Given the description of an element on the screen output the (x, y) to click on. 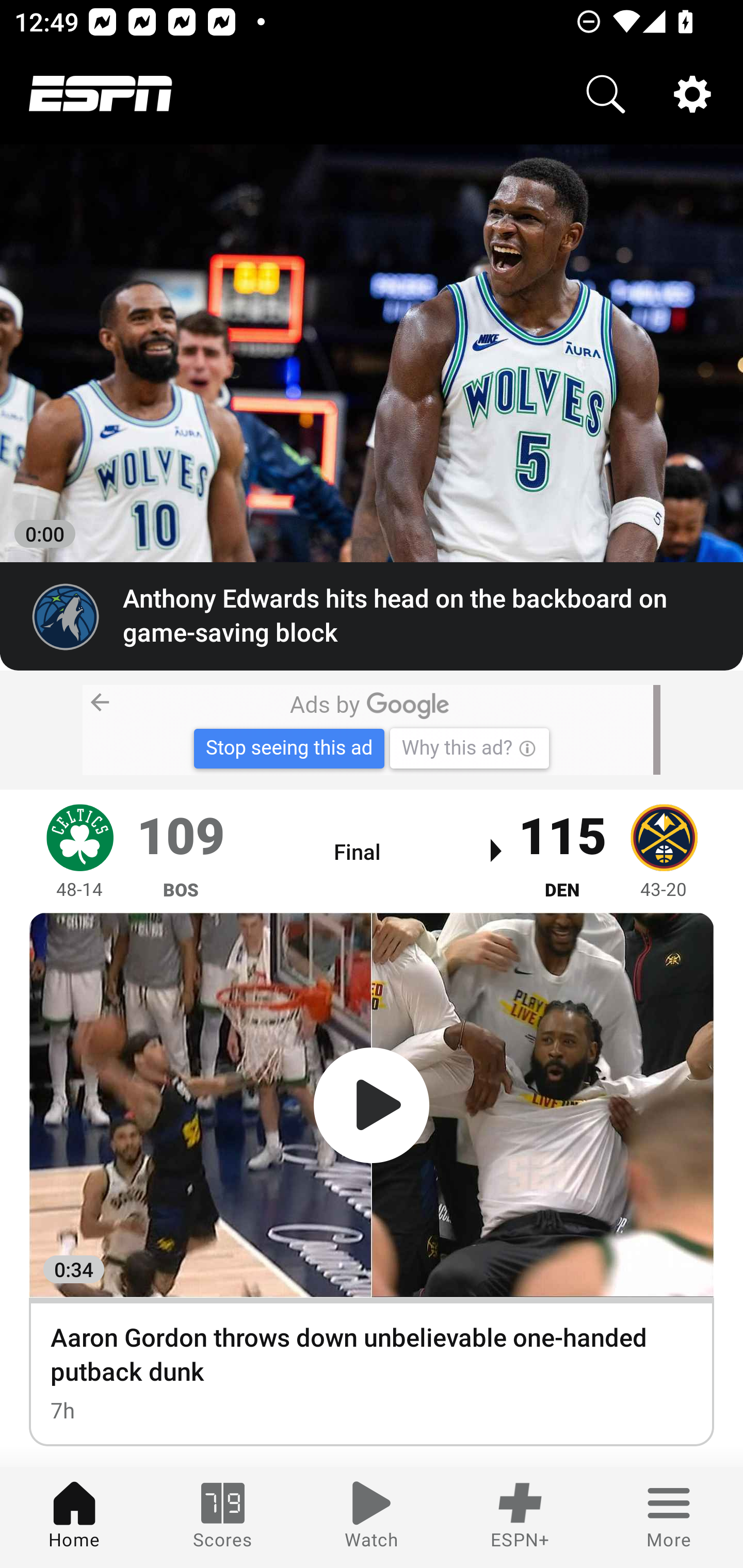
Search (605, 93)
Settings (692, 93)
Scores (222, 1517)
Watch (371, 1517)
ESPN+ (519, 1517)
More (668, 1517)
